Given the description of an element on the screen output the (x, y) to click on. 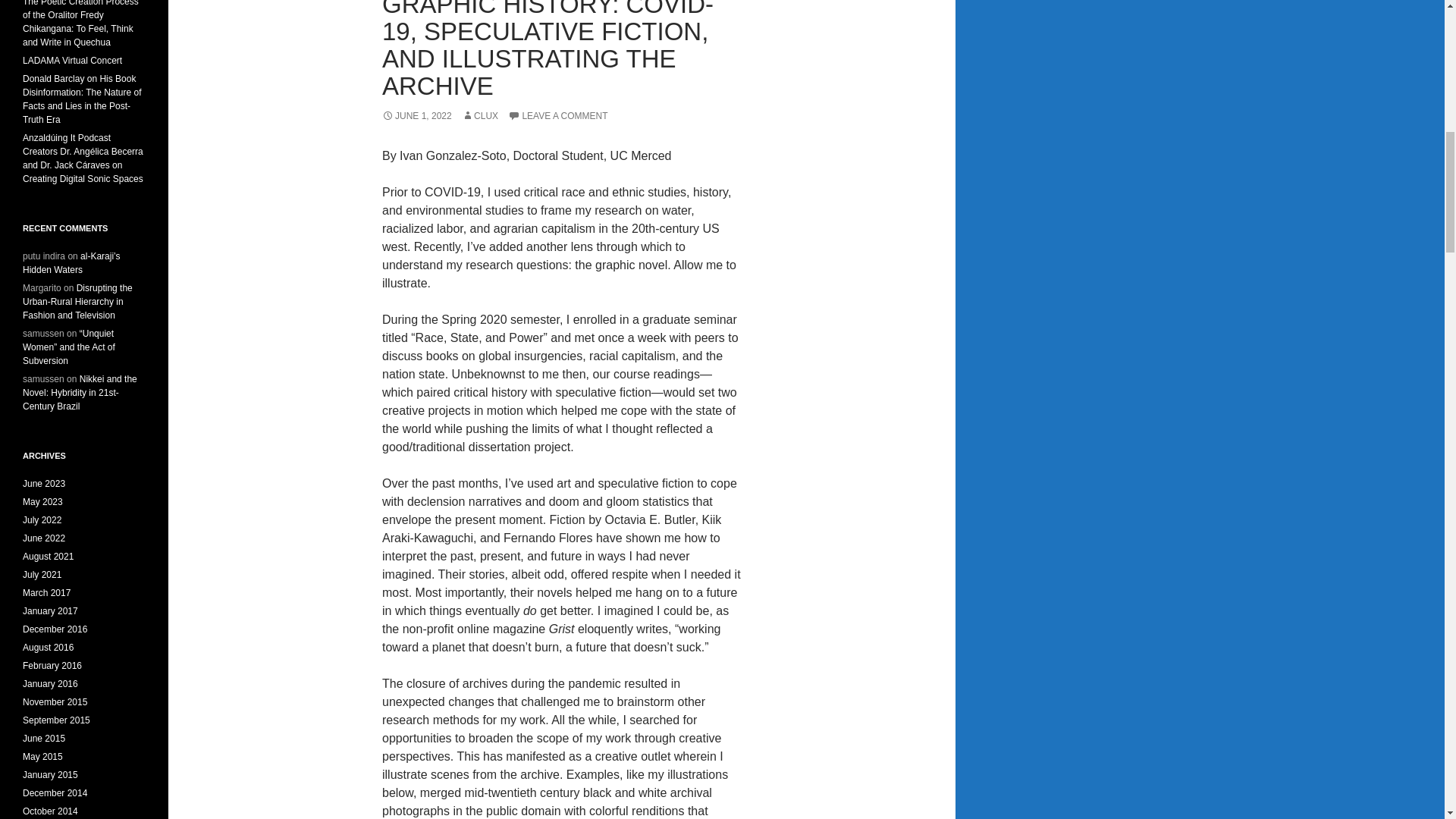
May 2023 (42, 501)
JUNE 1, 2022 (416, 115)
July 2022 (42, 520)
Nikkei and the Novel: Hybridity in 21st-Century Brazil (79, 392)
June 2022 (44, 538)
August 2021 (48, 556)
June 2023 (44, 483)
LEAVE A COMMENT (557, 115)
CLUX (479, 115)
LADAMA Virtual Concert (72, 60)
July 2021 (42, 574)
